Given the description of an element on the screen output the (x, y) to click on. 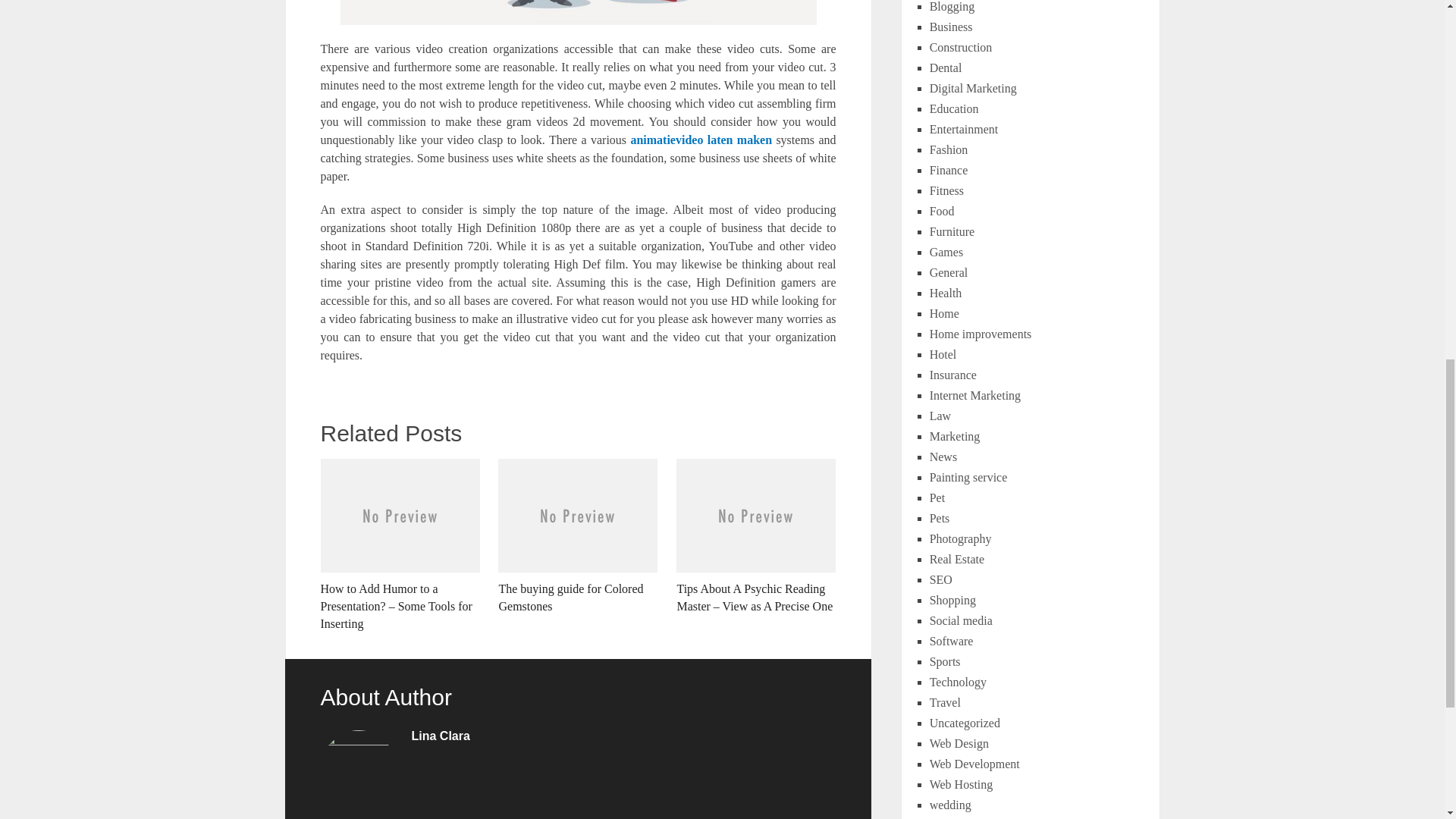
Finance (949, 169)
Fashion (949, 149)
The buying guide for Colored Gemstones (577, 536)
Education (954, 108)
Business (951, 26)
General (949, 272)
Entertainment (964, 128)
animatievideo laten maken (700, 139)
Games (946, 251)
Home (944, 313)
Construction (961, 47)
Fitness (946, 190)
Furniture (952, 231)
The buying guide for Colored Gemstones (577, 536)
Digital Marketing (973, 88)
